Given the description of an element on the screen output the (x, y) to click on. 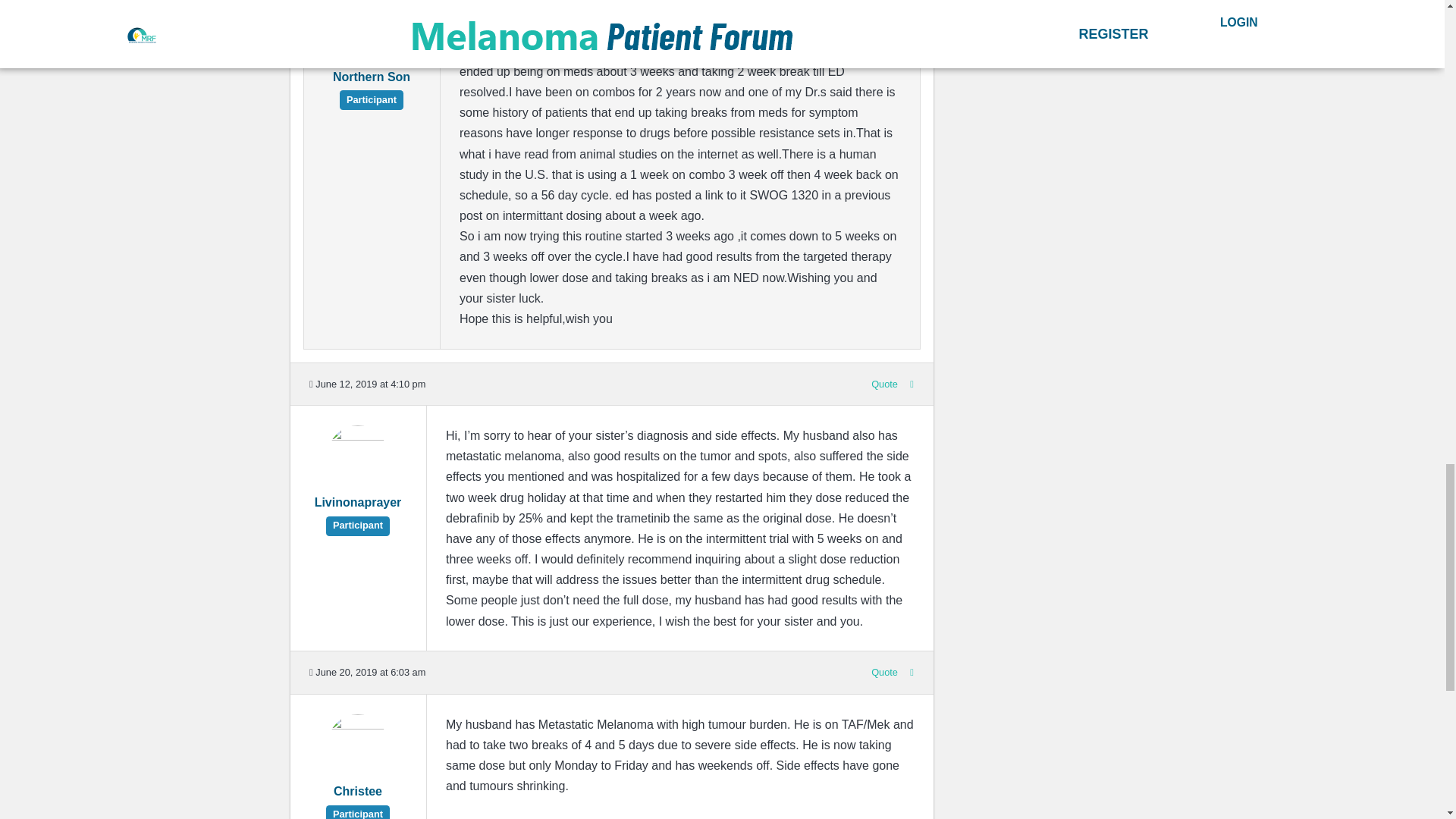
Northern Son (370, 85)
